Given the description of an element on the screen output the (x, y) to click on. 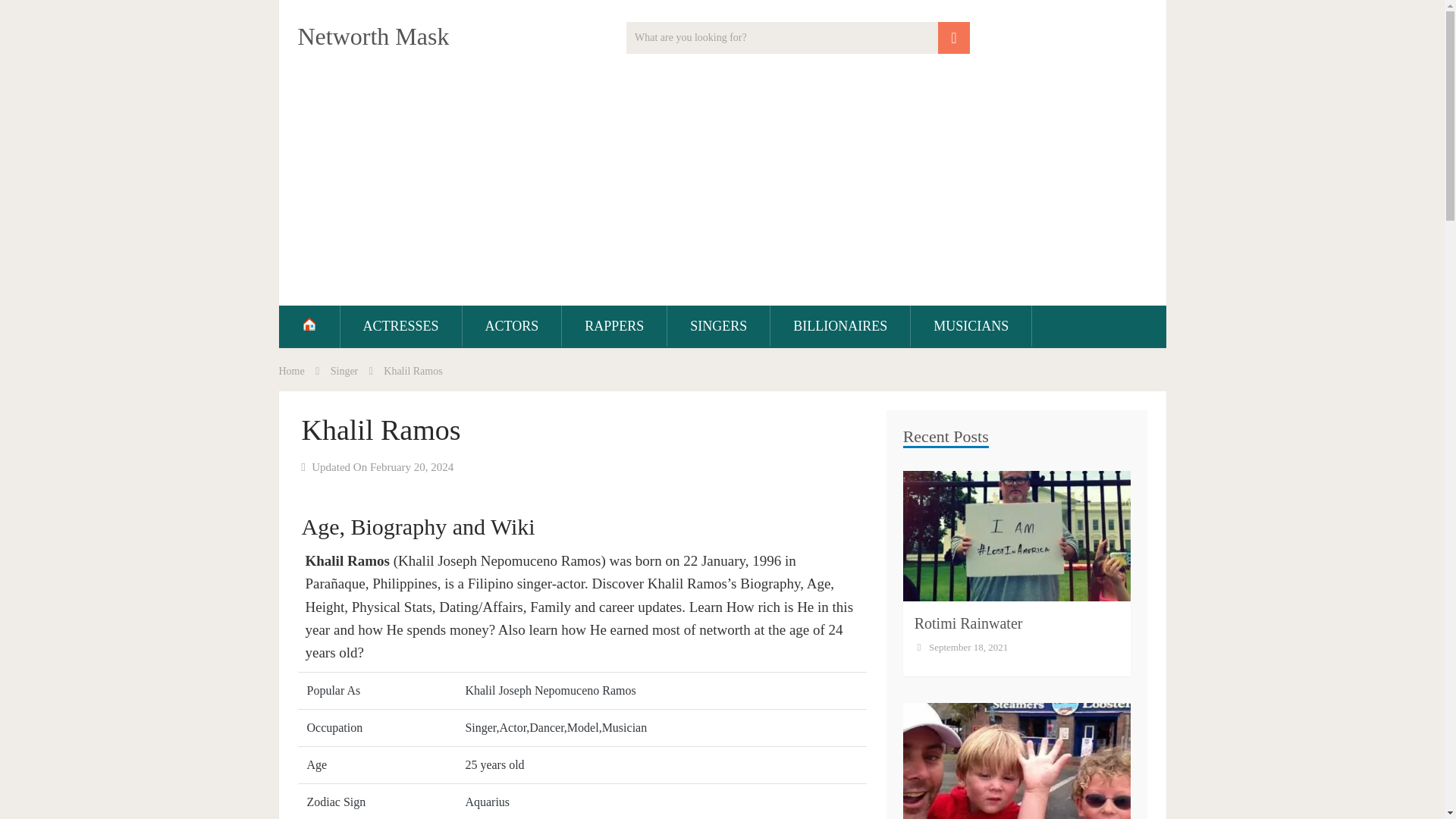
ACTORS (512, 325)
Rotimi Rainwater (968, 623)
SINGERS (718, 325)
Singer (344, 370)
Home (291, 370)
Rotimi Rainwater (968, 623)
BILLIONAIRES (840, 325)
MUSICIANS (970, 325)
What are you looking for? (797, 38)
RAPPERS (614, 325)
Networth Mask (372, 36)
ACTRESSES (400, 325)
